Given the description of an element on the screen output the (x, y) to click on. 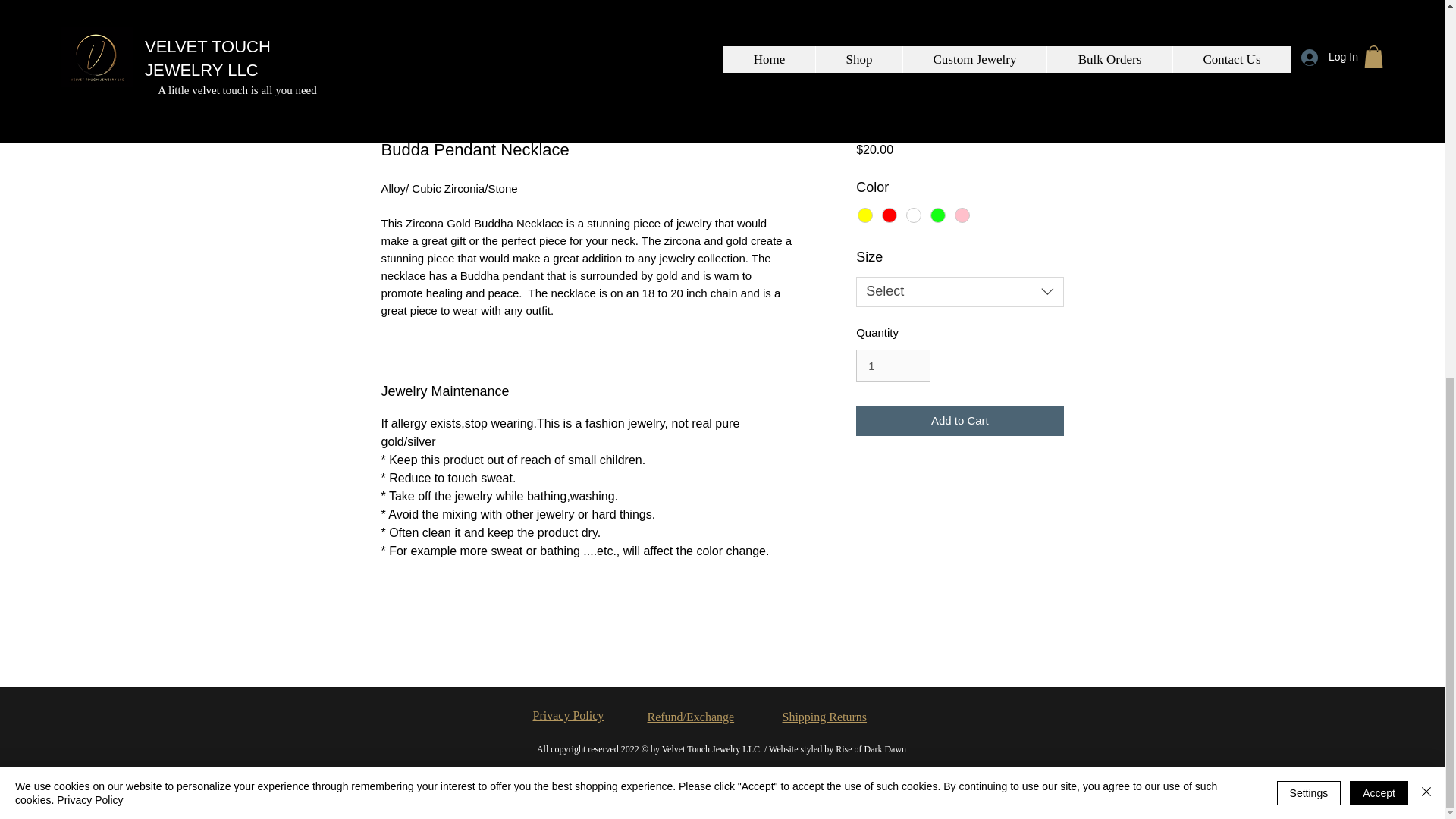
Privacy Policy (568, 715)
Privacy Policy (89, 100)
Shipping Returns (825, 716)
1 (893, 366)
Add to Cart (959, 420)
Accept (1378, 93)
Select (959, 291)
Settings (1308, 93)
